Given the description of an element on the screen output the (x, y) to click on. 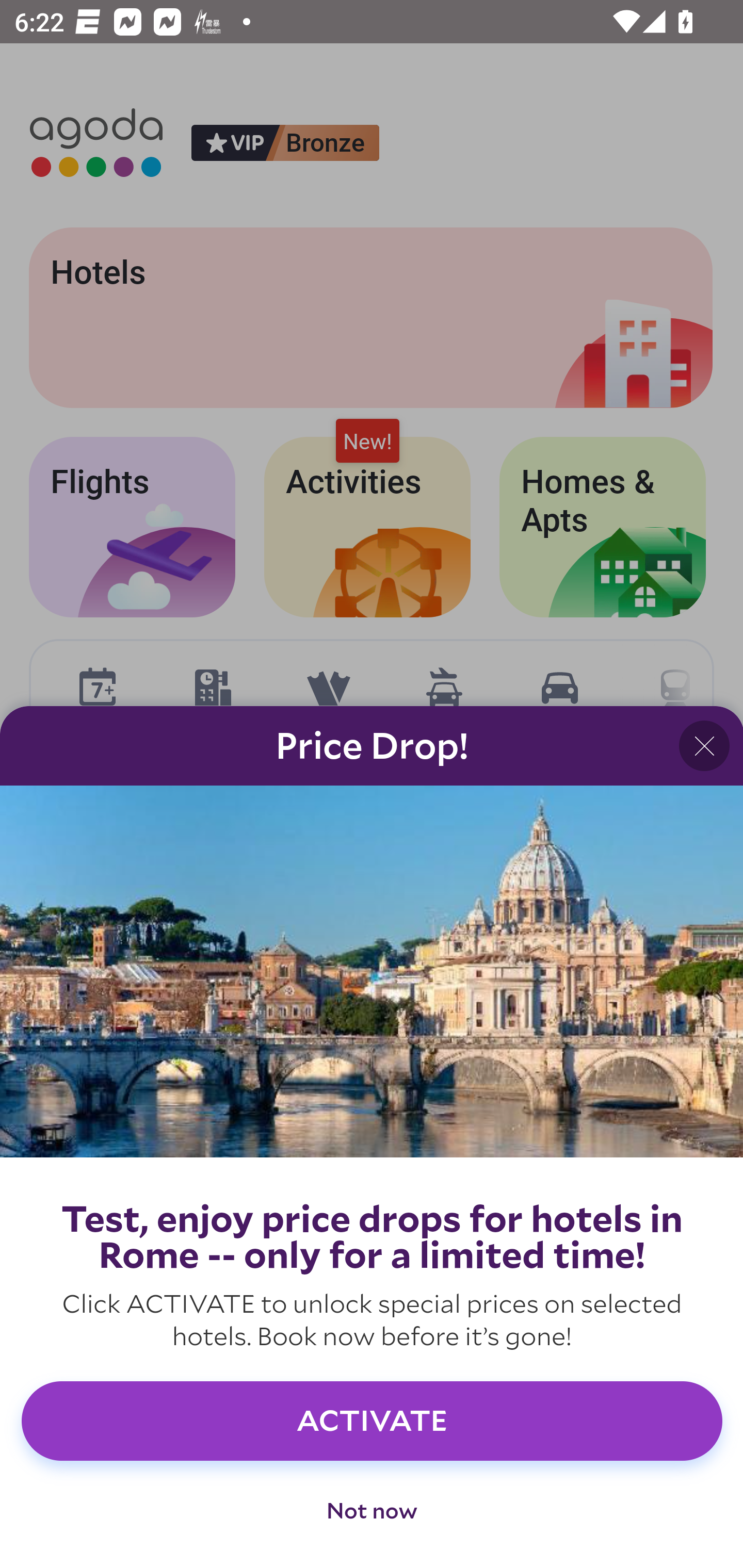
Deals (371, 1518)
